Given the description of an element on the screen output the (x, y) to click on. 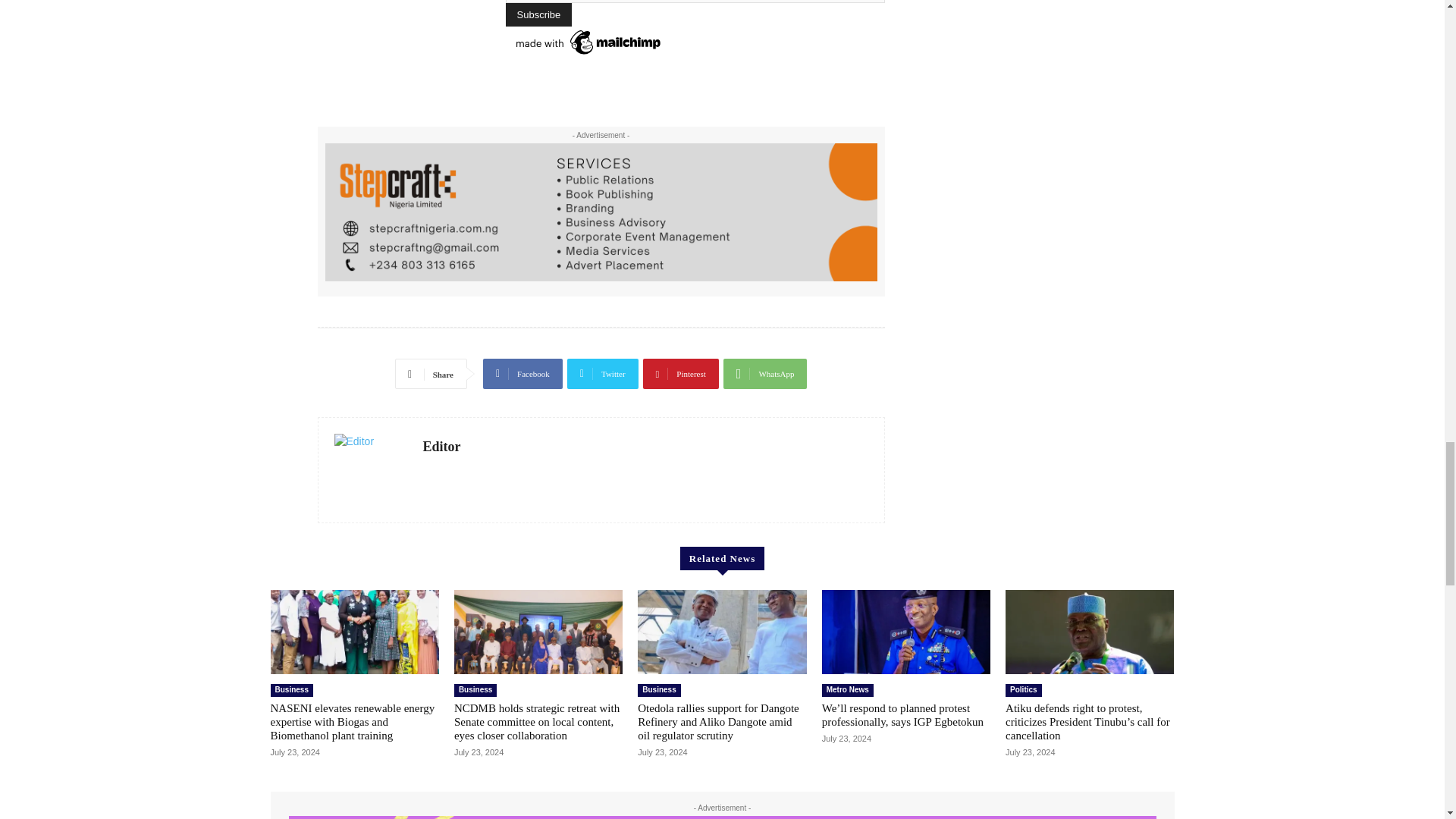
Subscribe (538, 14)
